Given the description of an element on the screen output the (x, y) to click on. 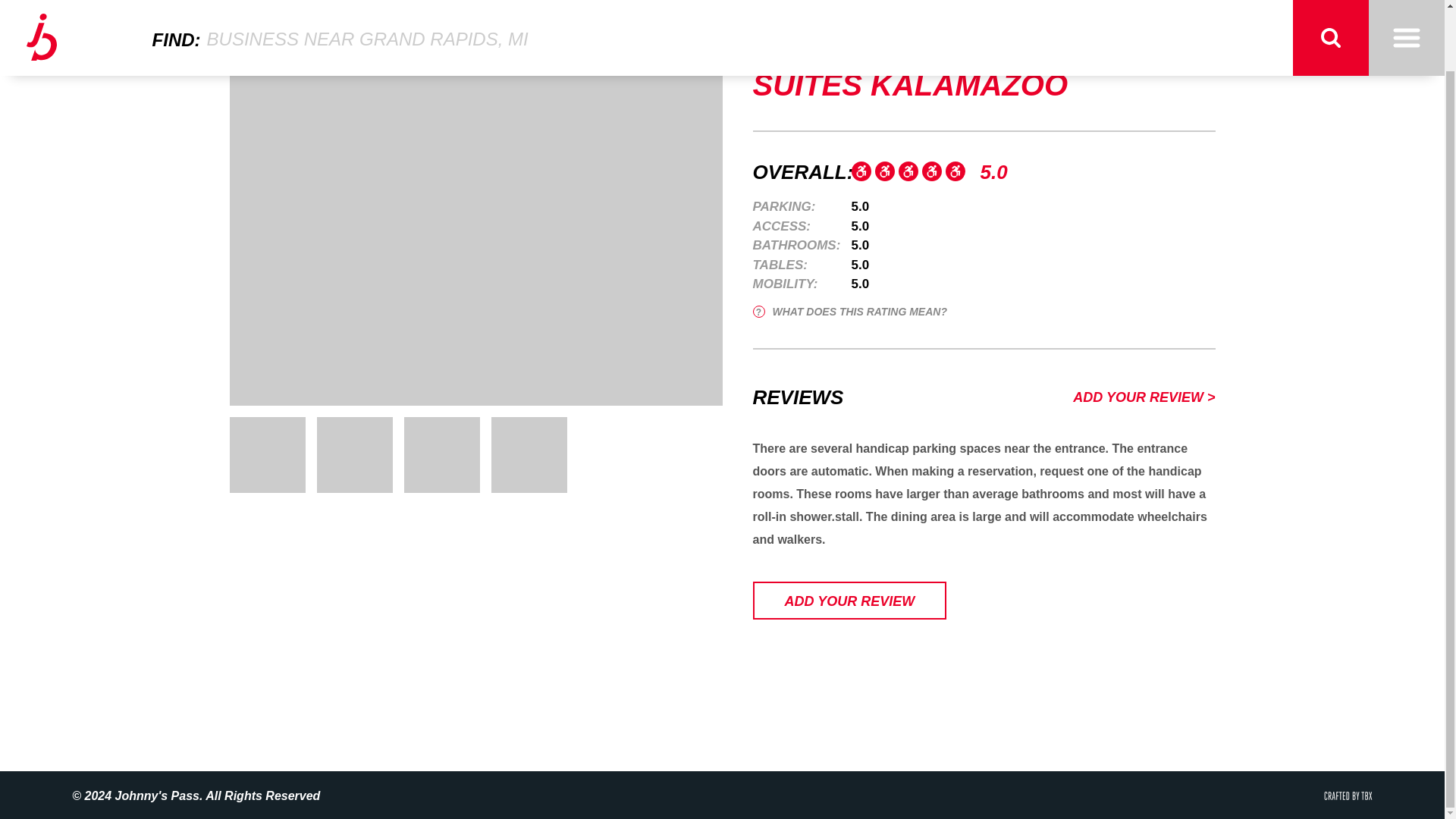
ADD YOUR REVIEW (849, 600)
WHAT DOES THIS RATING MEAN? (849, 310)
